Given the description of an element on the screen output the (x, y) to click on. 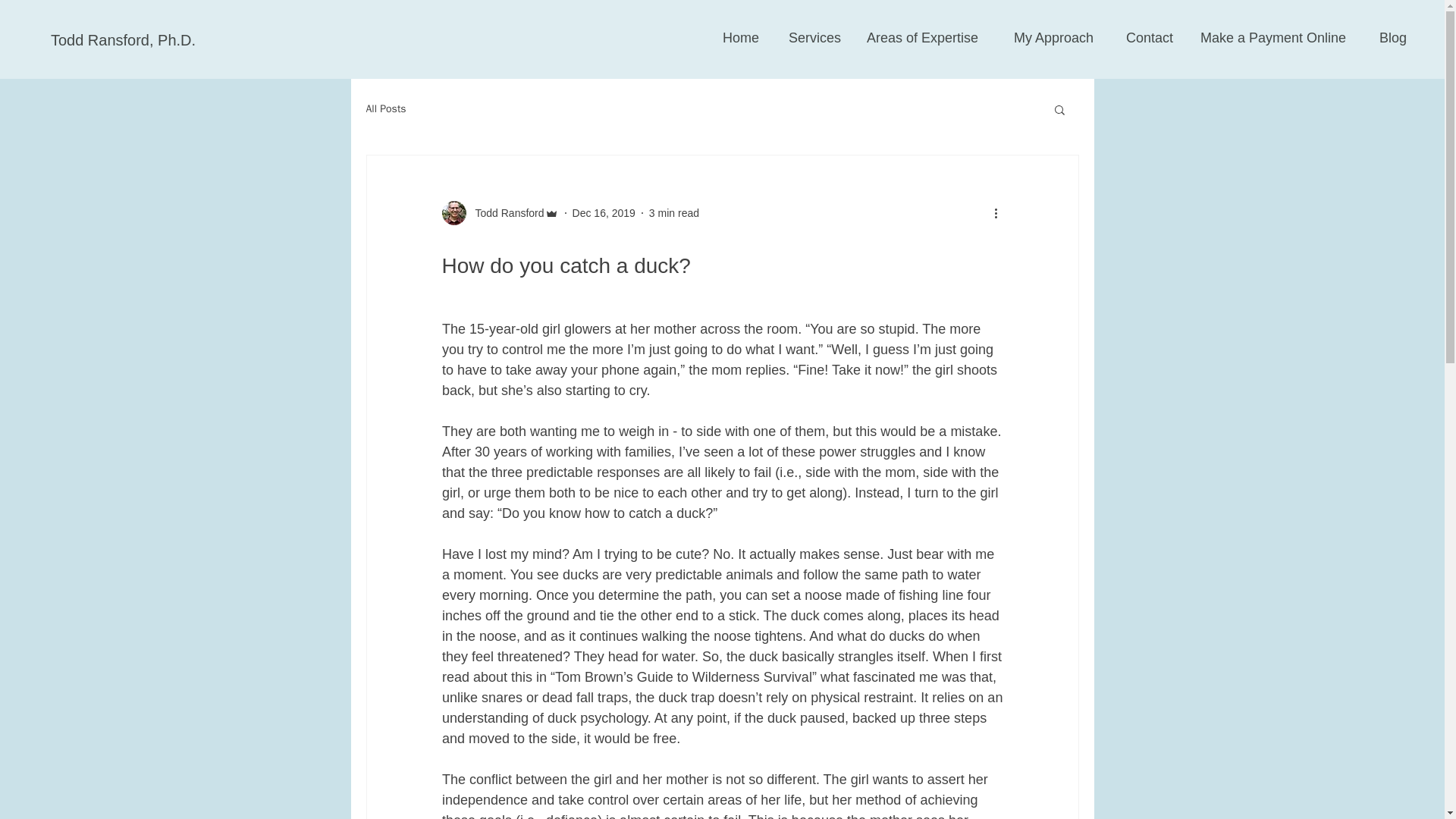
Todd Ransford (499, 212)
Blog (1383, 37)
Make a Payment Online (1267, 37)
Todd Ransford, Ph.D. (123, 39)
My Approach (1042, 37)
Services (807, 37)
All Posts (385, 109)
Contact (1140, 37)
Areas of Expertise (916, 37)
Todd Ransford (504, 212)
Home (732, 37)
3 min read (673, 212)
Dec 16, 2019 (603, 212)
